Given the description of an element on the screen output the (x, y) to click on. 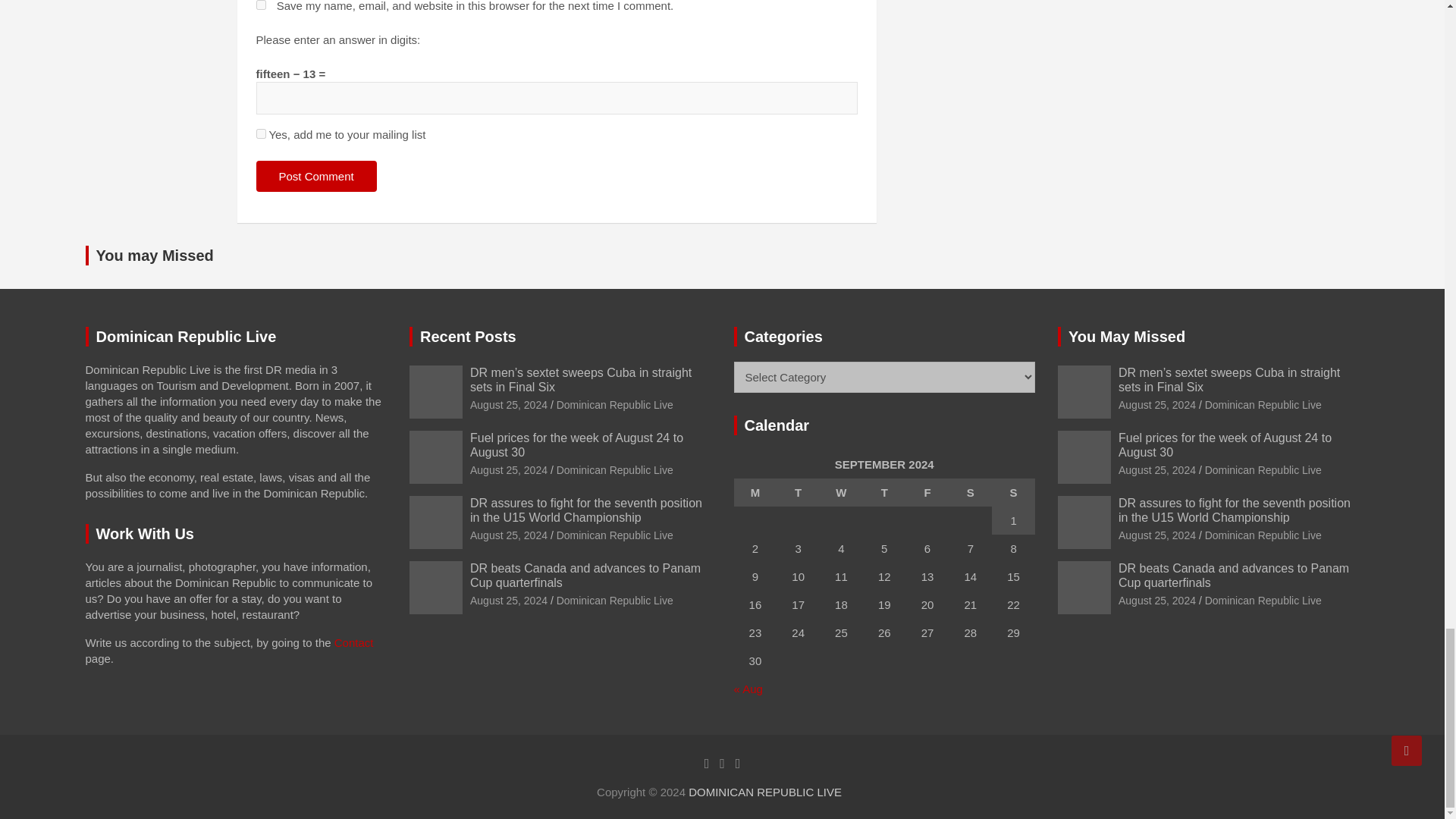
1 (261, 133)
Post Comment (316, 175)
yes (261, 4)
